Given the description of an element on the screen output the (x, y) to click on. 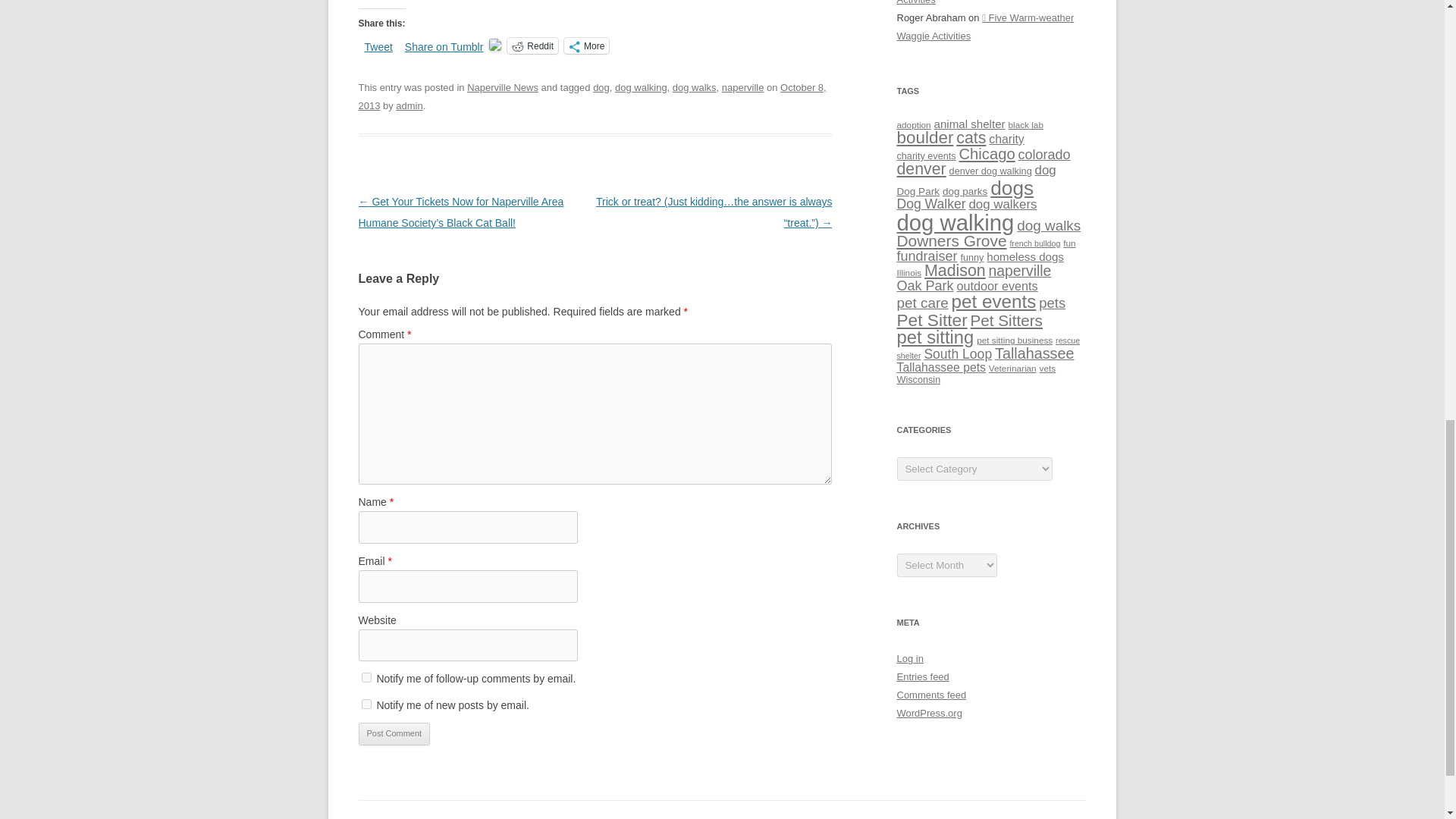
dog walks (694, 87)
October 8, 2013 (591, 96)
admin (409, 105)
More (586, 45)
Share on Tumblr (443, 44)
dog walking (640, 87)
8:30 pm (591, 96)
Tweet (377, 44)
dog (601, 87)
Share on Tumblr (443, 44)
